Given the description of an element on the screen output the (x, y) to click on. 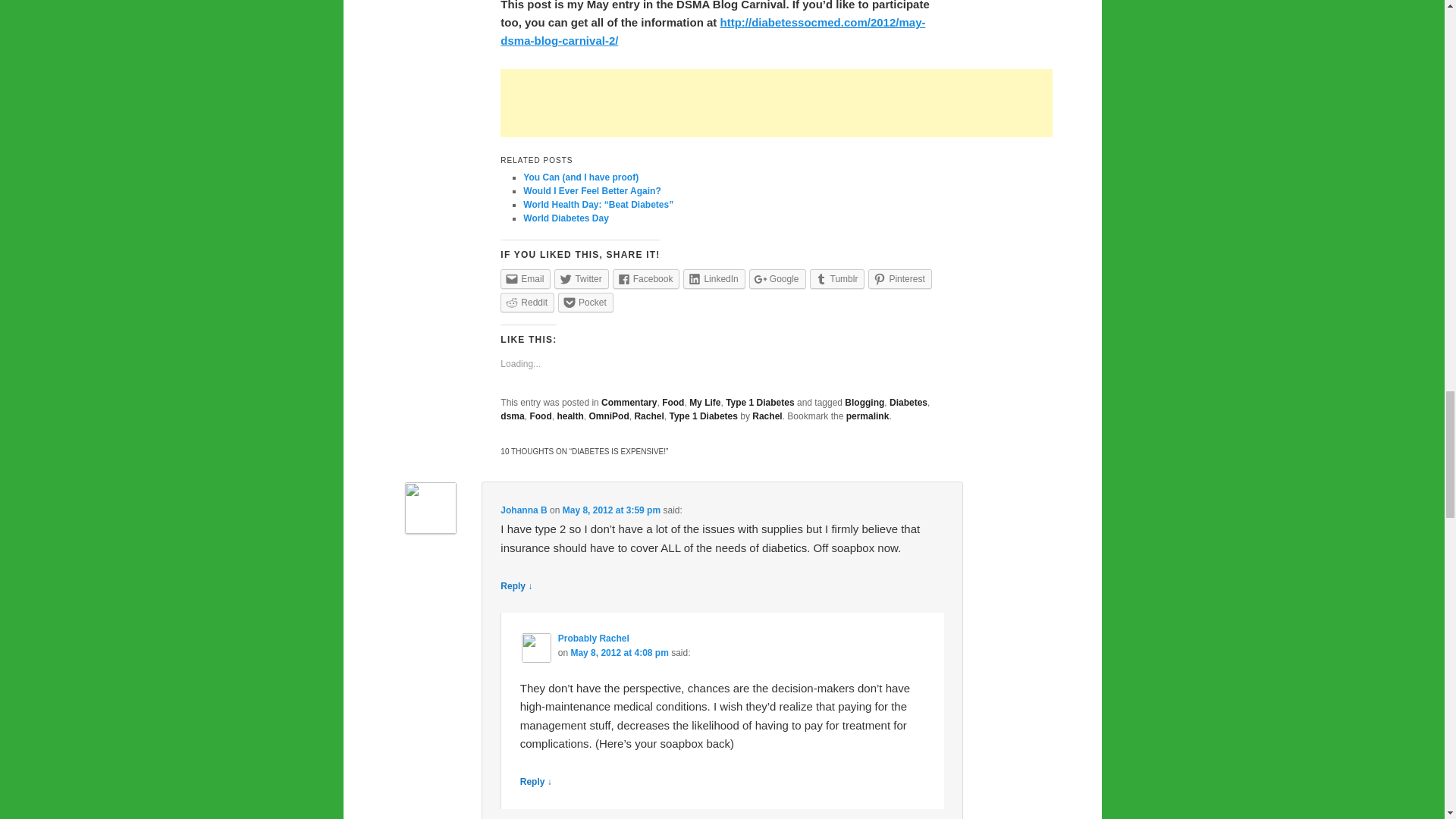
Would I Ever Feel Better Again? (591, 190)
Facebook (645, 279)
My Life (704, 402)
Email (525, 279)
Reddit (527, 302)
Pocket (584, 302)
Tumblr (836, 279)
Click to share on Twitter (581, 279)
Commentary (628, 402)
Food (673, 402)
